Given the description of an element on the screen output the (x, y) to click on. 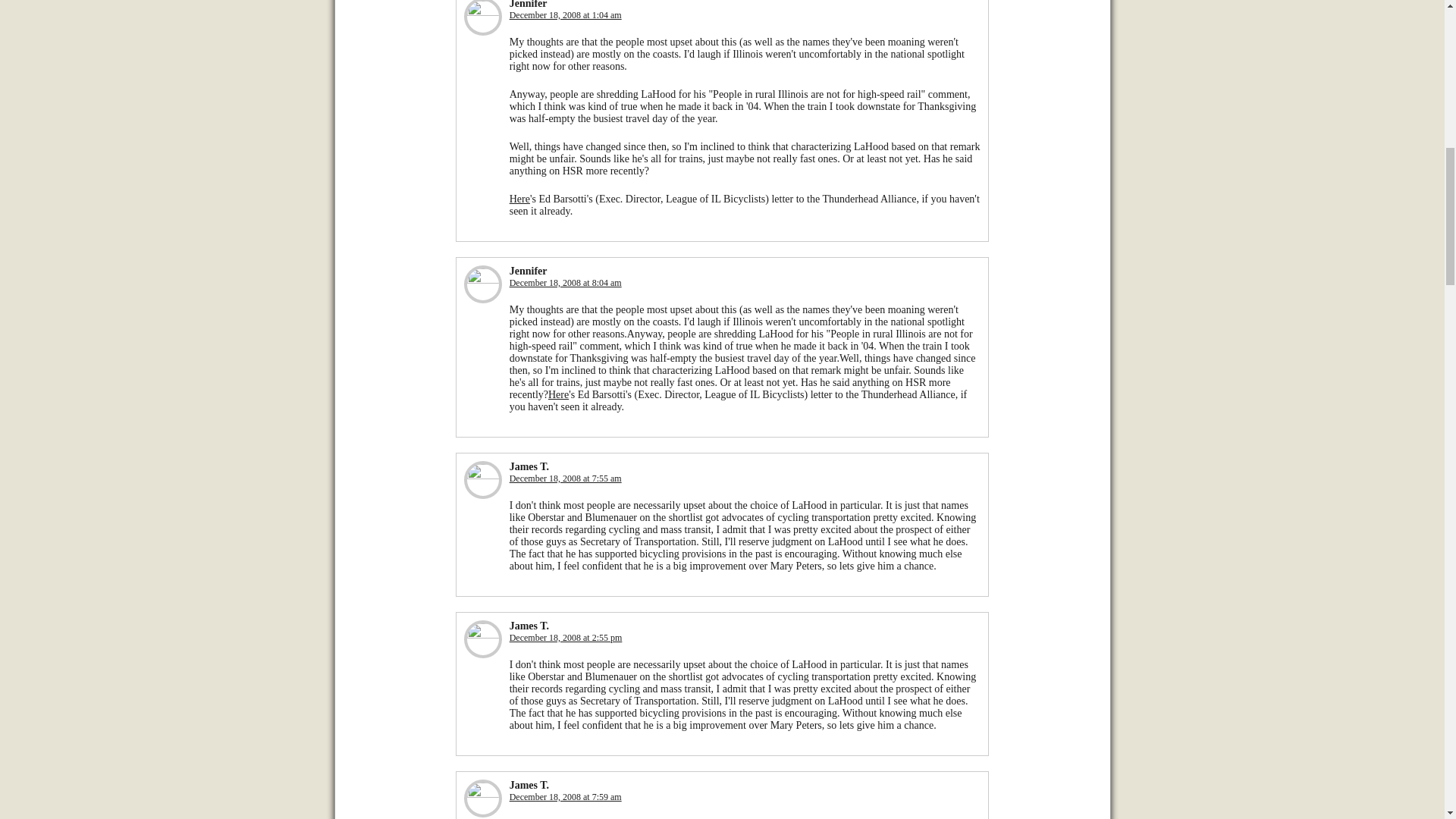
December 18, 2008 at 7:55 am (565, 478)
December 18, 2008 at 8:04 am (565, 282)
December 18, 2008 at 2:55 pm (566, 637)
Here (519, 198)
Here (558, 394)
December 18, 2008 at 1:04 am (565, 14)
December 18, 2008 at 7:59 am (565, 796)
